Given the description of an element on the screen output the (x, y) to click on. 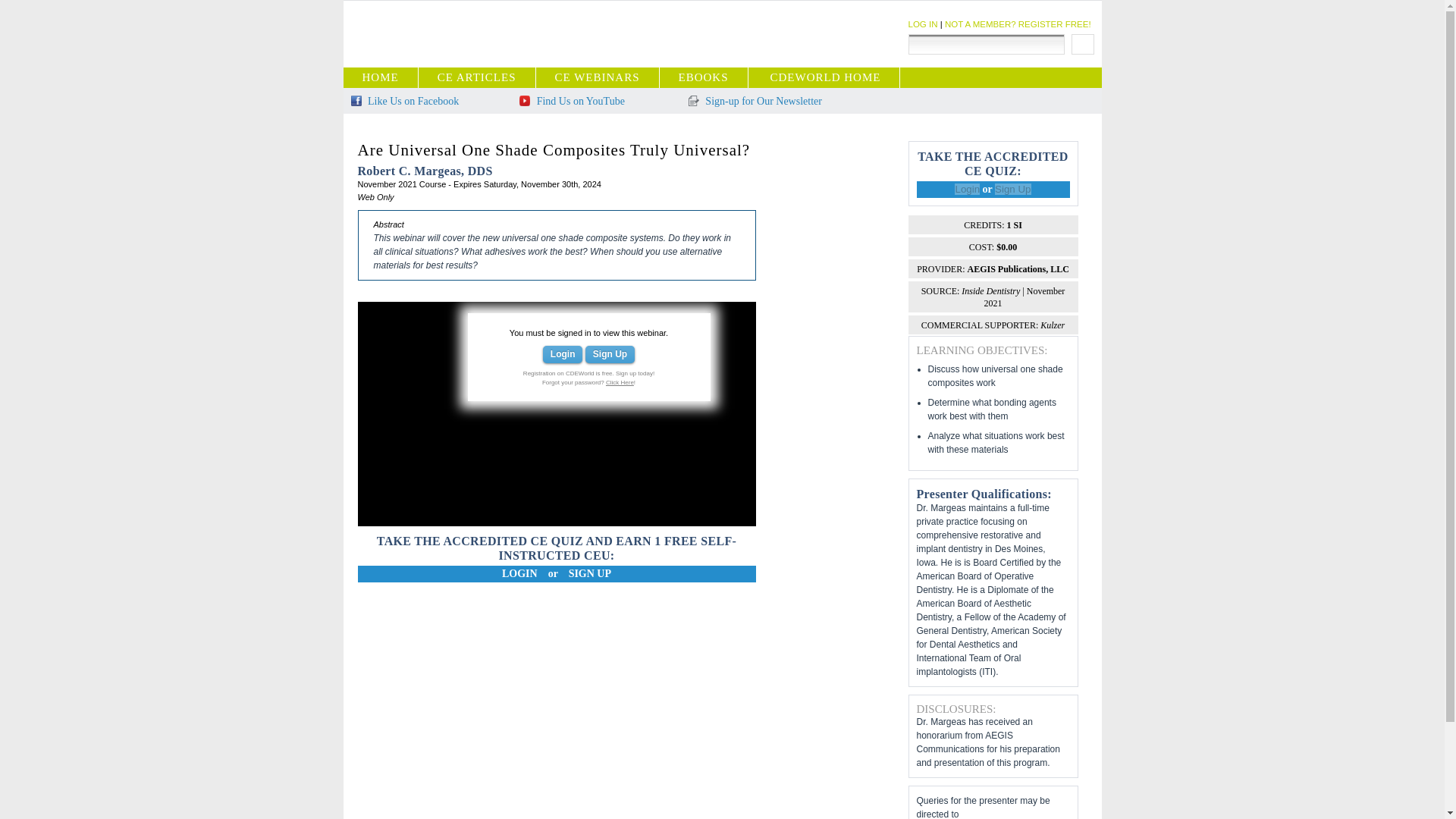
HOME (380, 77)
Sign Up (609, 354)
Log In (922, 23)
LOG IN (922, 23)
SIGN UP (590, 573)
Sign Up (1012, 188)
Register (1017, 23)
Like Us on Facebook (404, 101)
CDEWORLD HOME (825, 77)
CE Articles (477, 77)
